Given the description of an element on the screen output the (x, y) to click on. 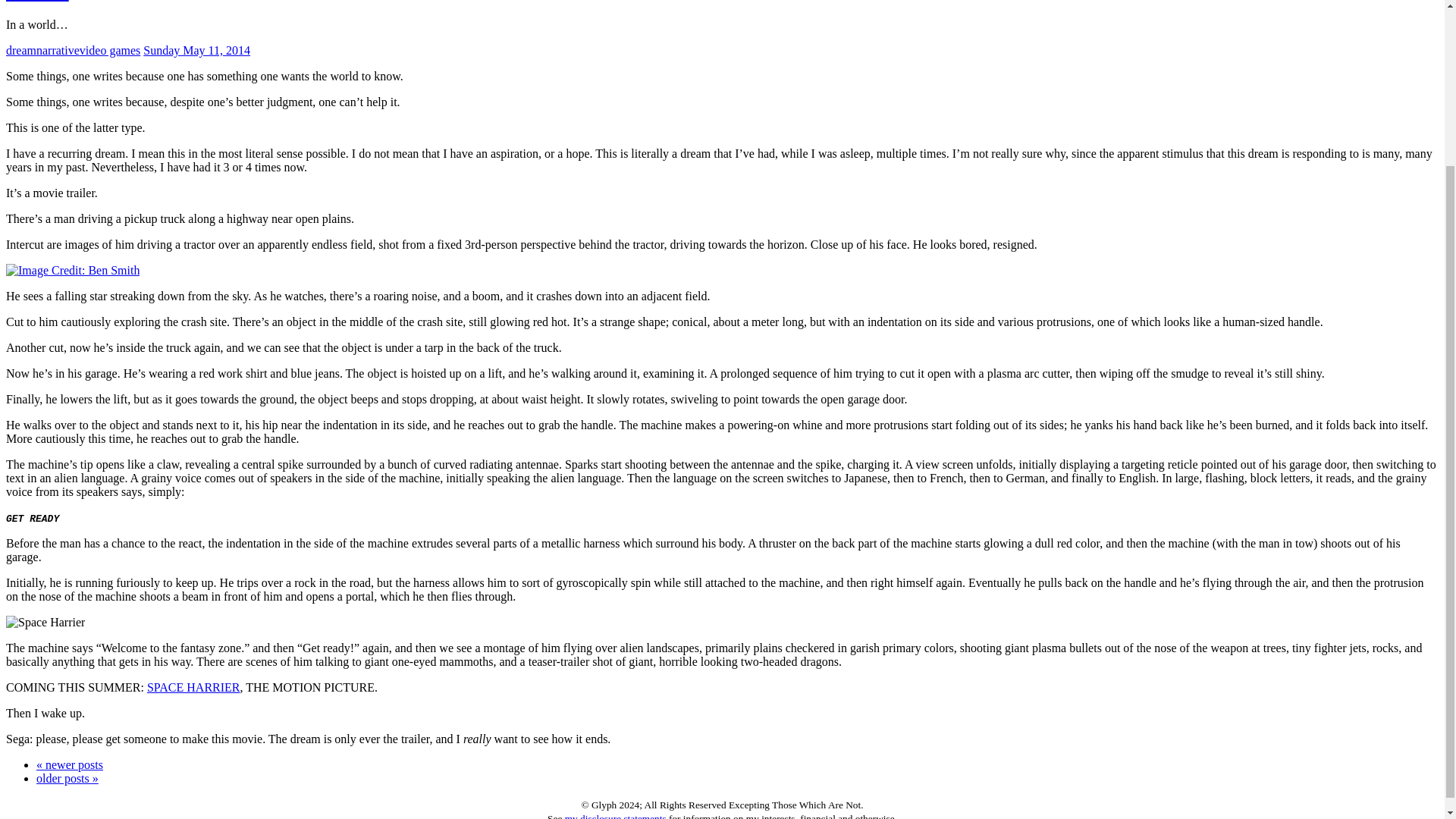
Harried (36, 1)
Permalink to Harried (196, 50)
Sunday May 11, 2014 (196, 50)
narrative (58, 50)
dream (20, 50)
SPACE HARRIER (193, 686)
video games (109, 50)
Permalink to Harried (36, 1)
